Given the description of an element on the screen output the (x, y) to click on. 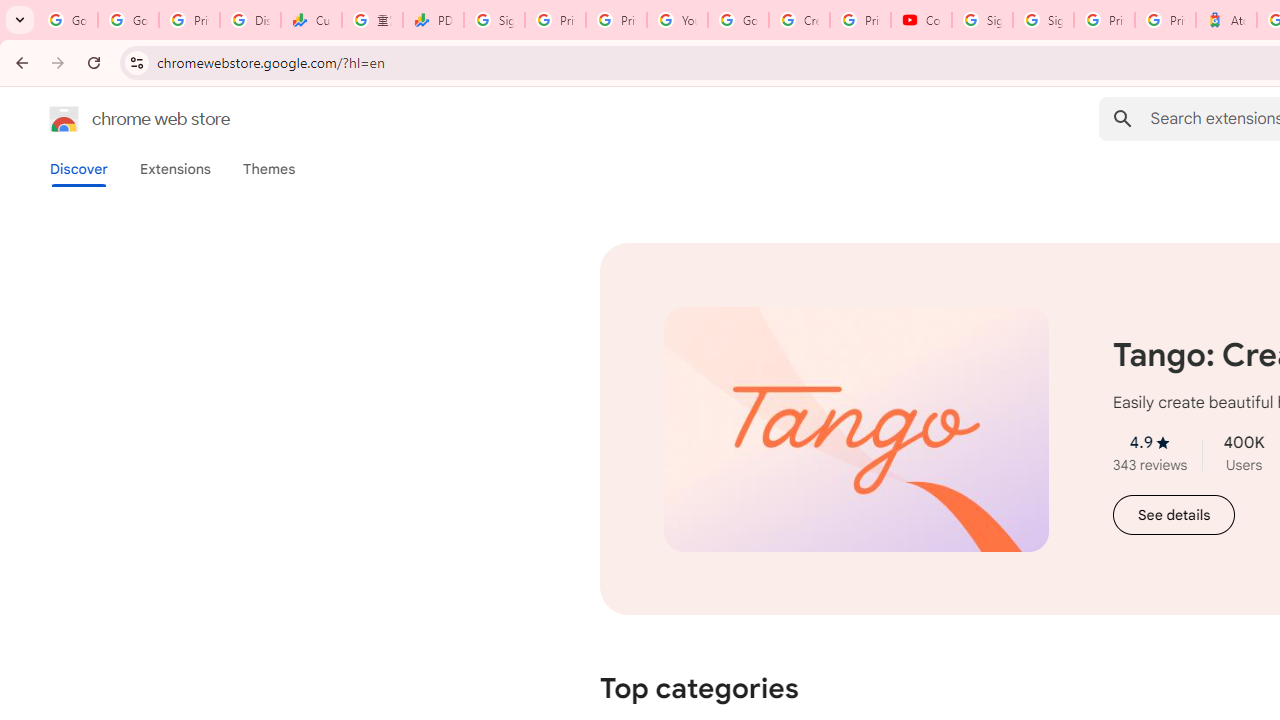
Currencies - Google Finance (310, 20)
